Given the description of an element on the screen output the (x, y) to click on. 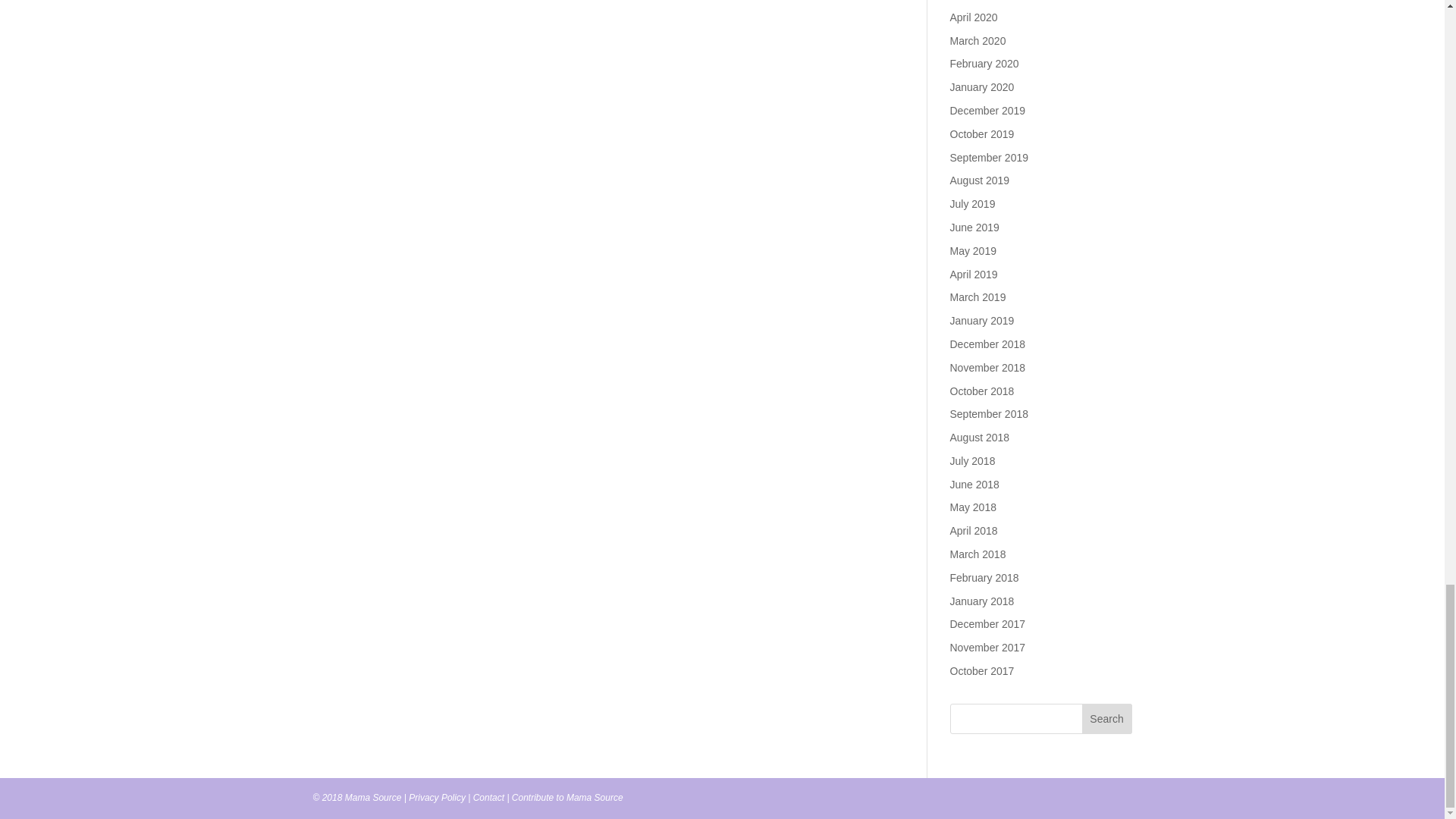
Search (1106, 718)
